Given the description of an element on the screen output the (x, y) to click on. 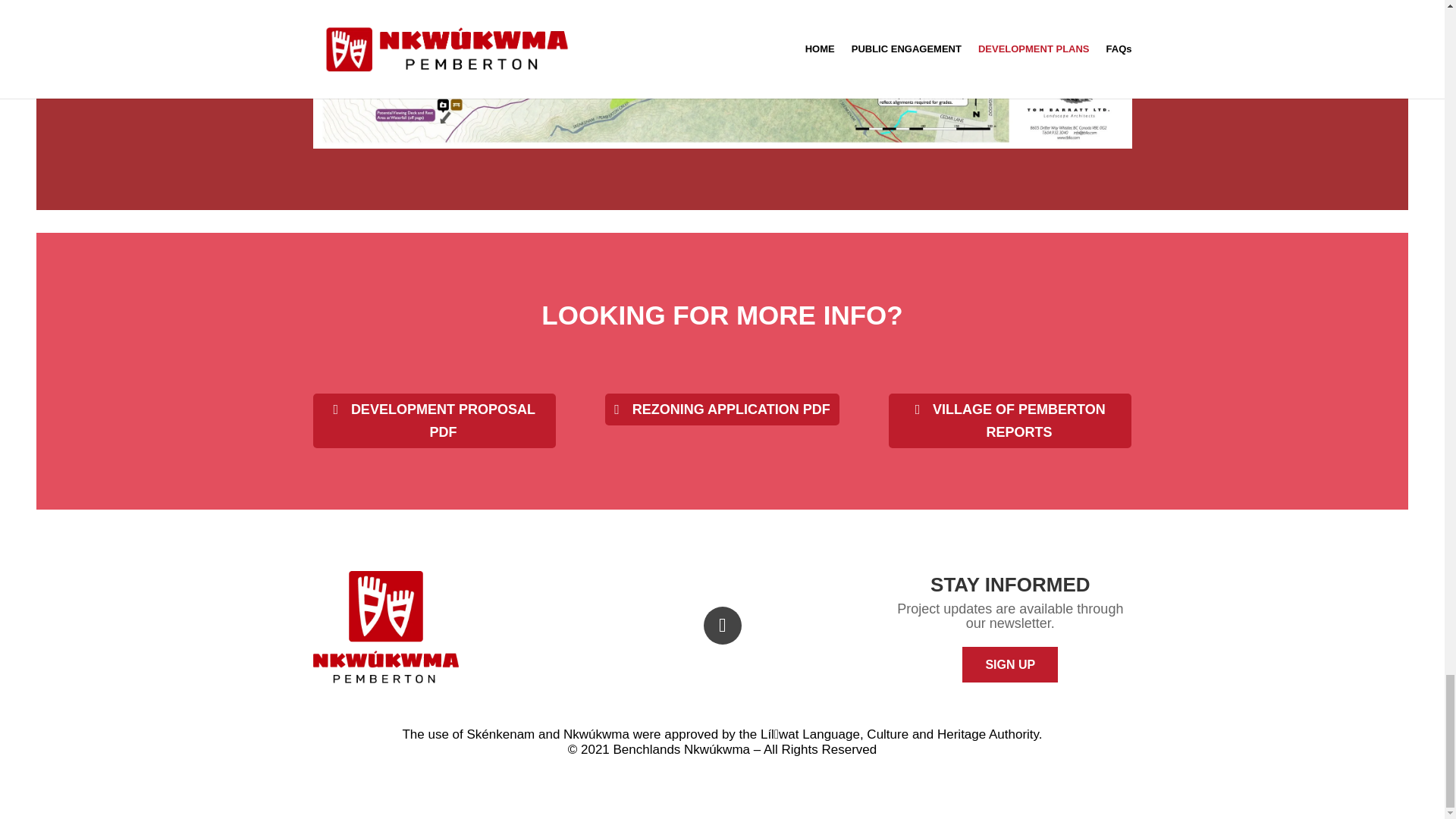
DEVELOPMENT PROPOSAL PDF (433, 420)
SIGN UP (1010, 664)
VILLAGE OF PEMBERTON REPORTS (1009, 420)
Follow on Facebook (722, 625)
NkwukwmaPTConcept (722, 74)
REZONING APPLICATION PDF (722, 409)
